Given the description of an element on the screen output the (x, y) to click on. 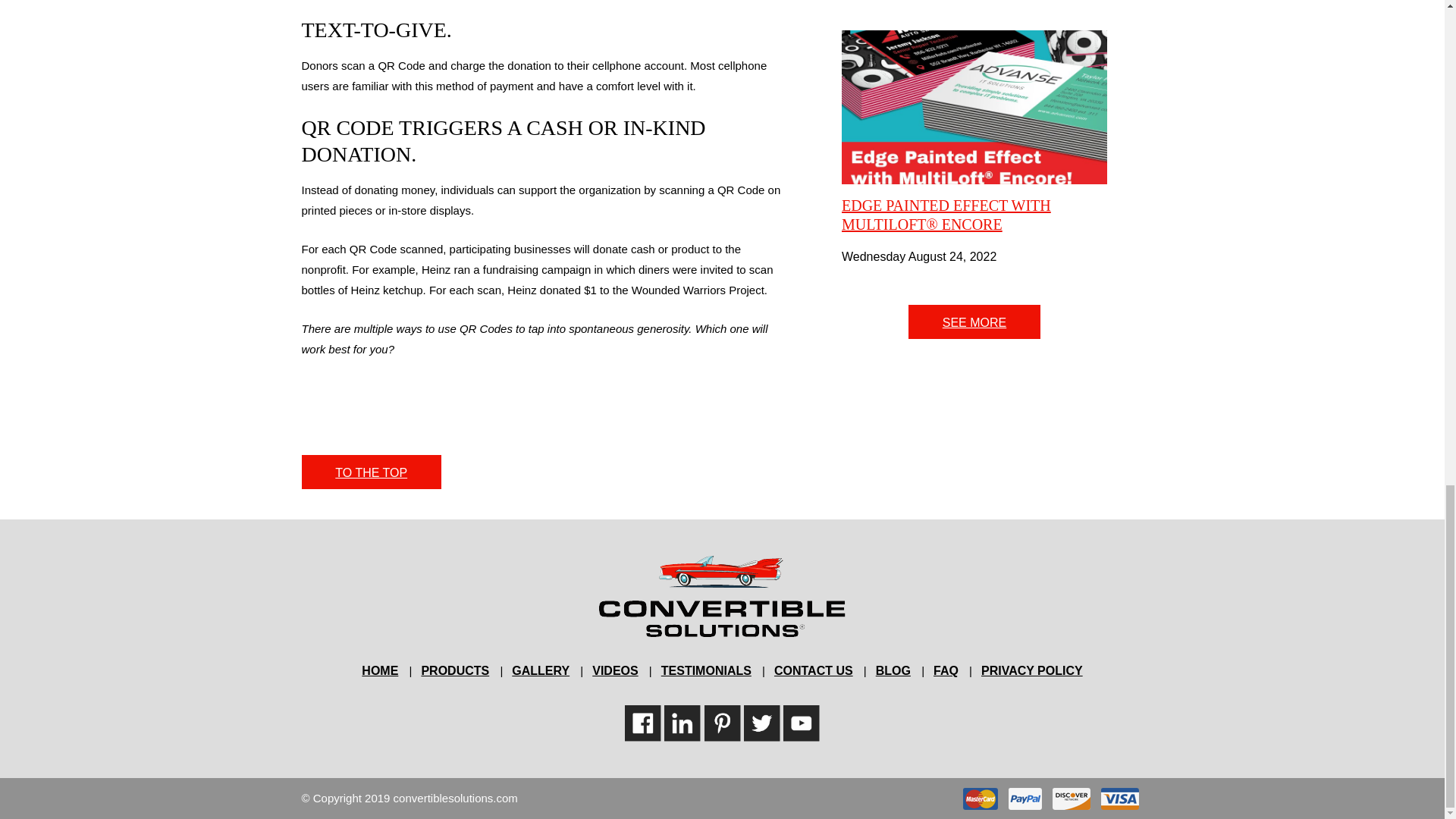
PRODUCTS (454, 670)
TO THE TOP (371, 471)
SEE MORE (974, 321)
HOME (379, 670)
GALLERY (540, 670)
